Given the description of an element on the screen output the (x, y) to click on. 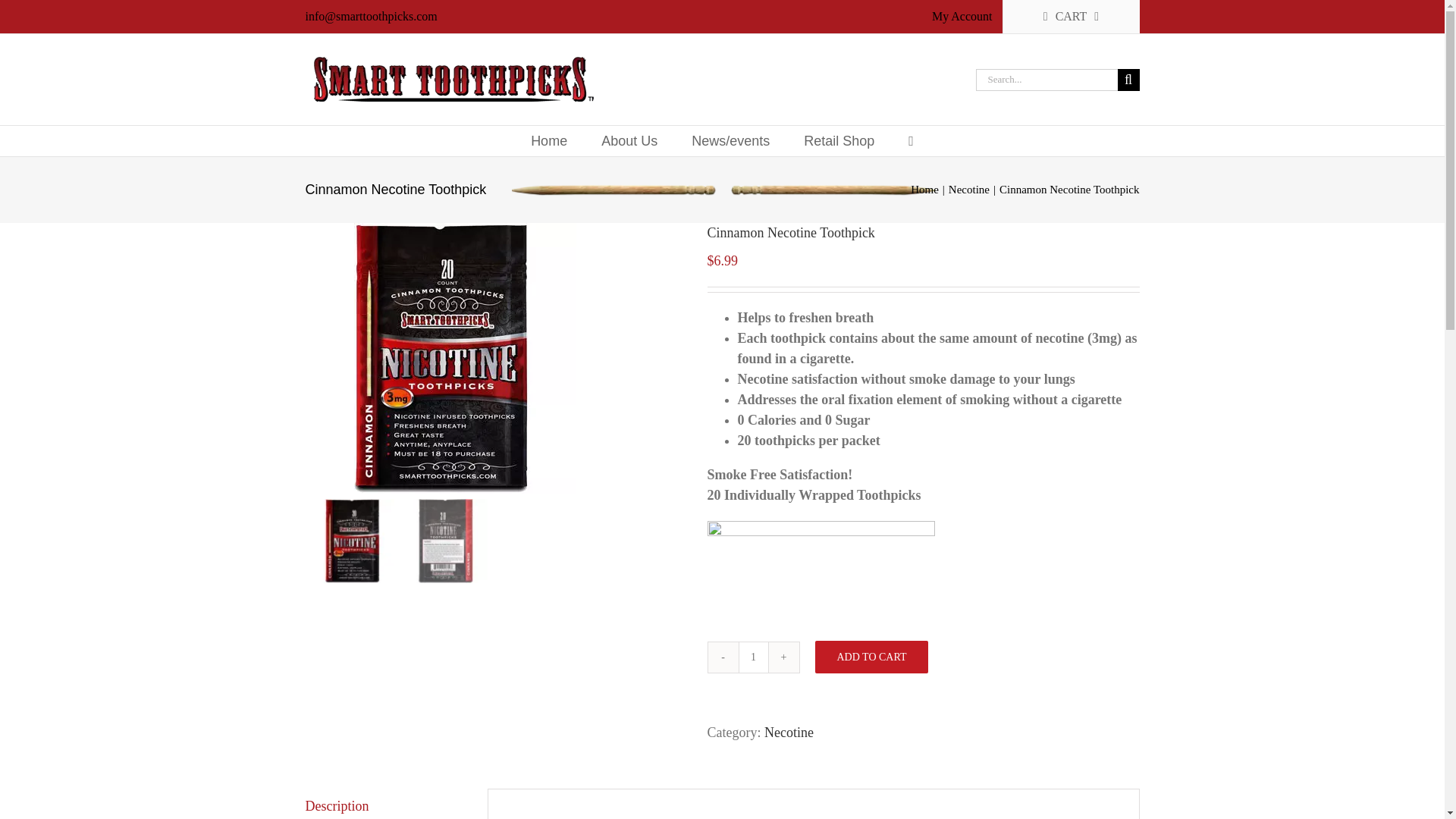
Home (925, 189)
Retail Shop (839, 141)
About Us (629, 141)
1 (753, 657)
CART (1070, 16)
- (722, 657)
Cinnamon front (439, 357)
Log In (1011, 144)
My Account (962, 16)
Home (549, 141)
Necotine (969, 189)
